Given the description of an element on the screen output the (x, y) to click on. 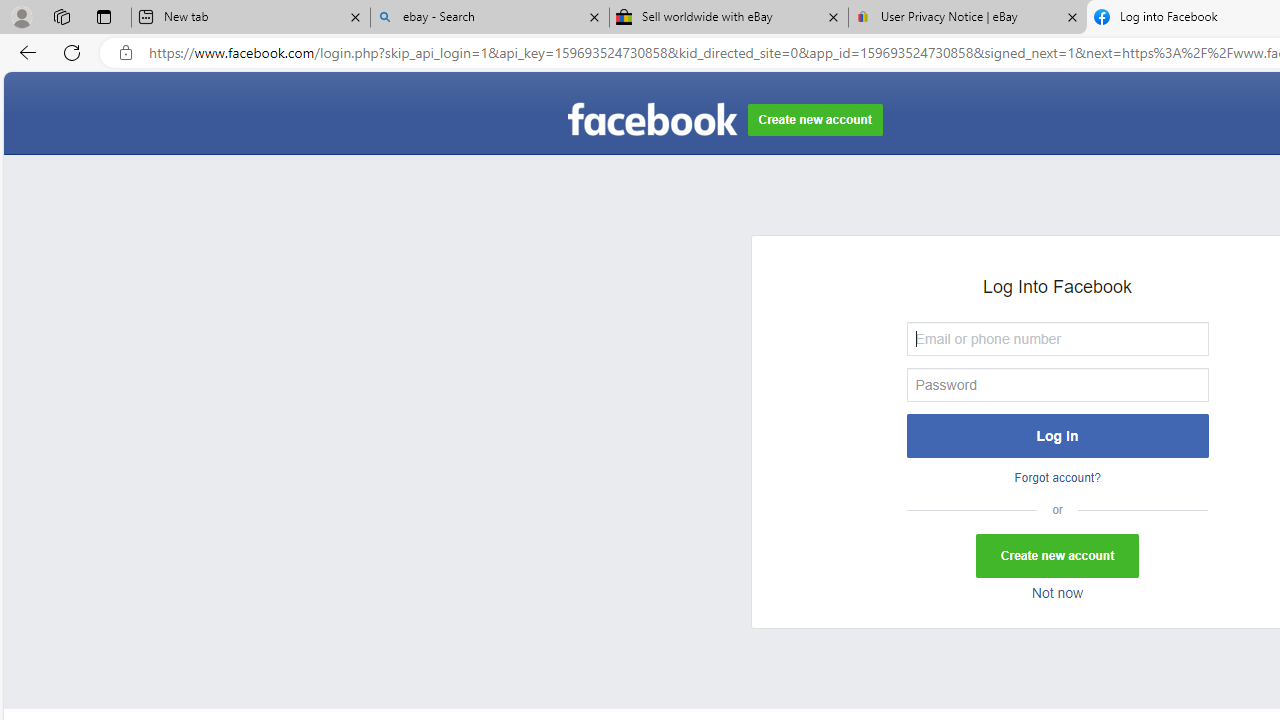
Sell worldwide with eBay (729, 17)
Forgot account? (1056, 477)
